Given the description of an element on the screen output the (x, y) to click on. 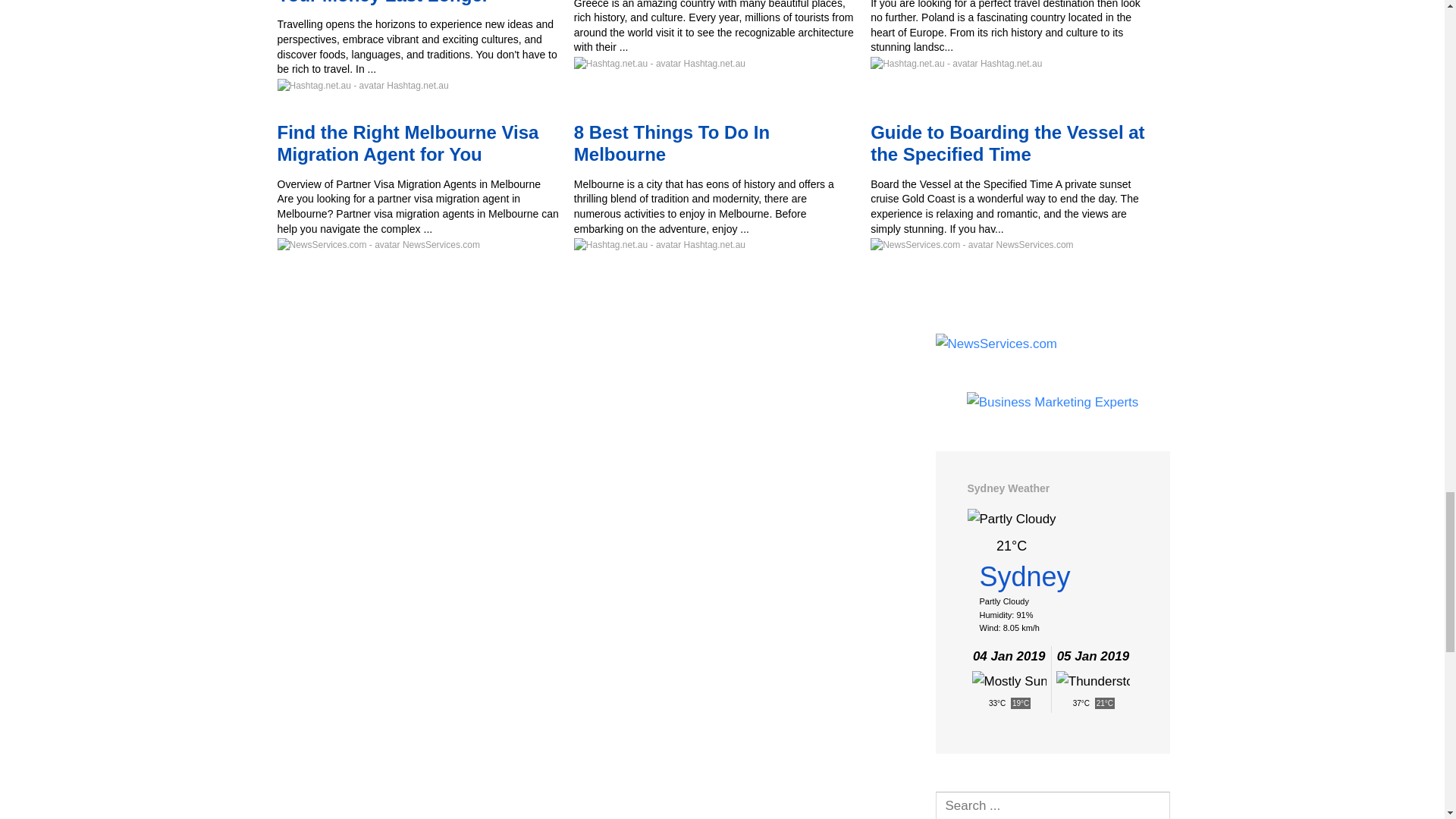
Search ... (1053, 805)
Guide to Boarding the Vessel at the Specified Time (1007, 143)
8 Best Things To Do In Melbourne (671, 143)
Mostly Sunny (1009, 680)
Thunderstorms (1093, 680)
Find the Right Melbourne Visa Migration Agent for You (408, 143)
